Given the description of an element on the screen output the (x, y) to click on. 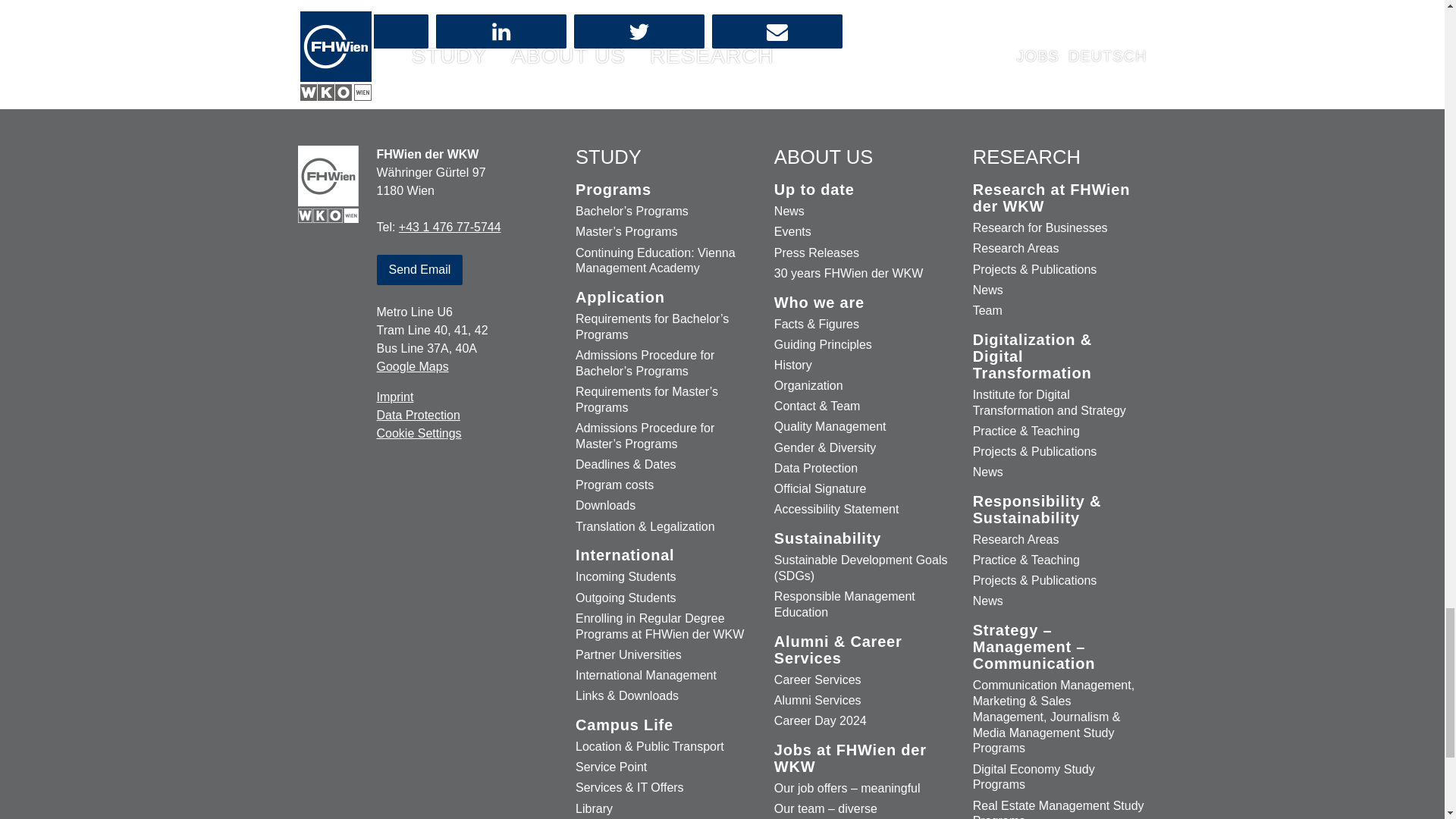
Share on Twitter (638, 31)
Send by email (776, 31)
Share on LinkedIn (500, 31)
Share on Facebook (362, 31)
